Given the description of an element on the screen output the (x, y) to click on. 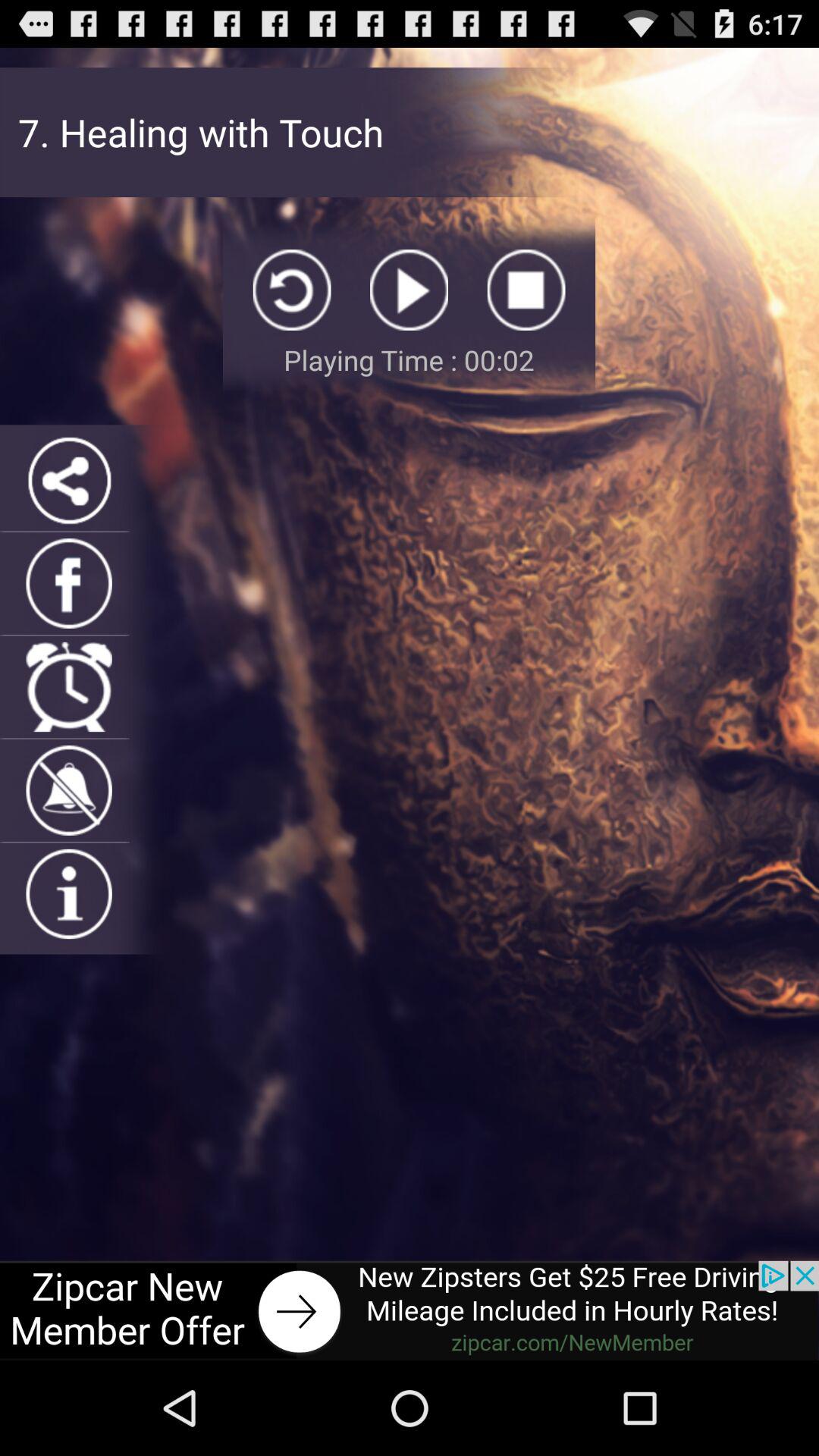
mute the alarm (69, 790)
